Given the description of an element on the screen output the (x, y) to click on. 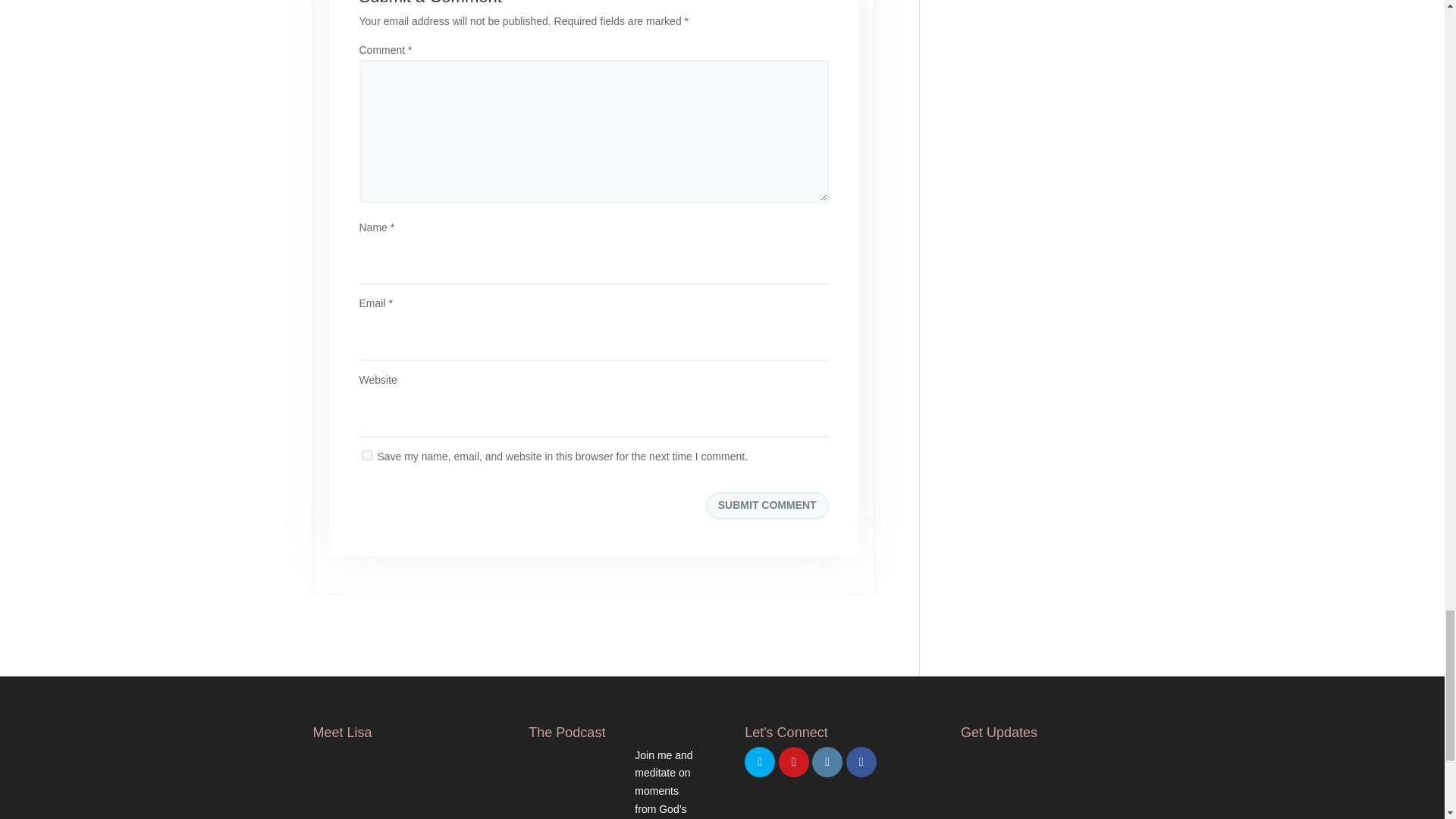
Submit Comment (767, 505)
yes (367, 455)
Submit Comment (767, 505)
